Given the description of an element on the screen output the (x, y) to click on. 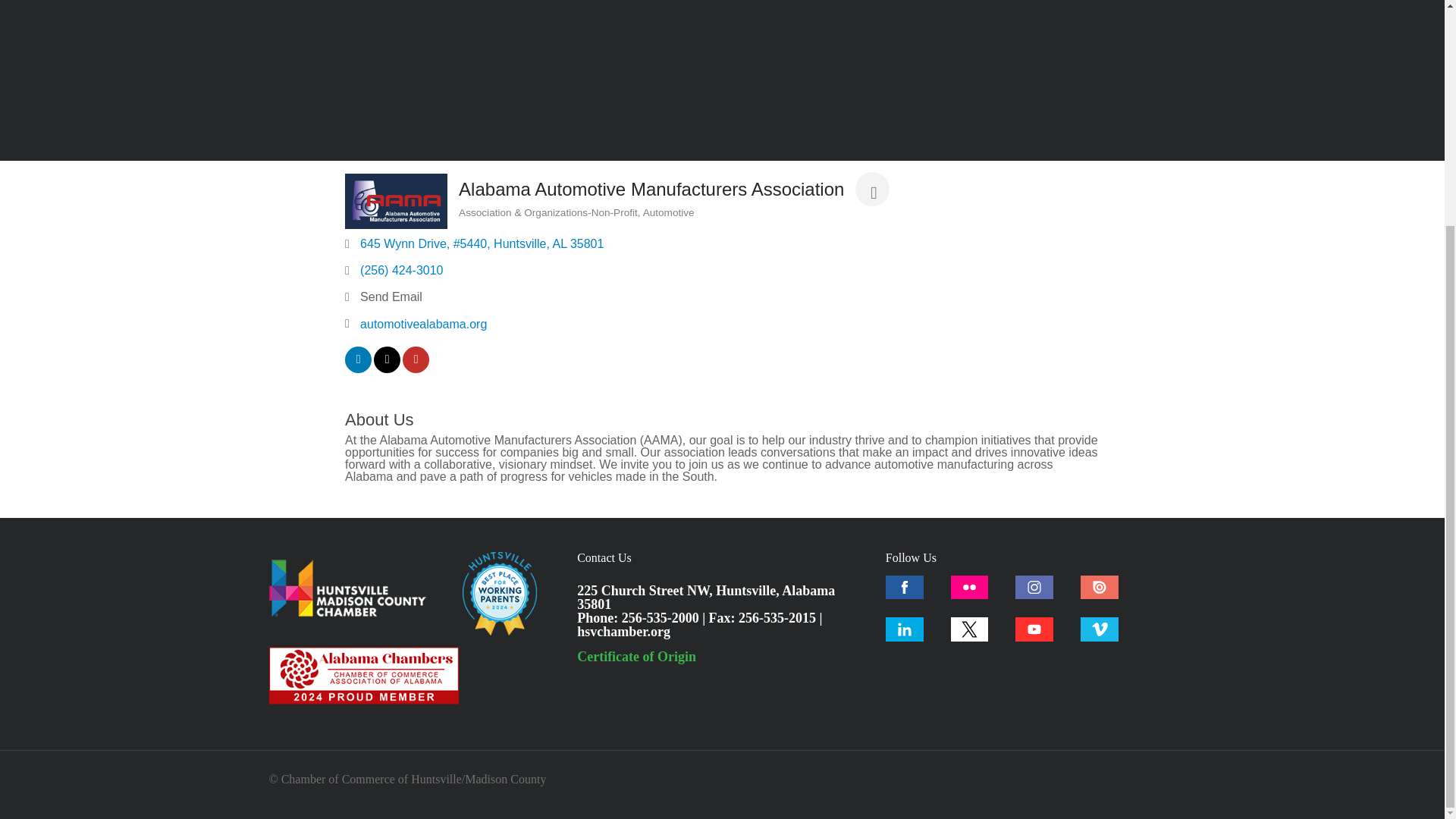
View on LinkedIn (358, 368)
View on Twitter (387, 368)
Alabama Automotive Manufacturers Association (395, 200)
View on YouTube (416, 368)
